Given the description of an element on the screen output the (x, y) to click on. 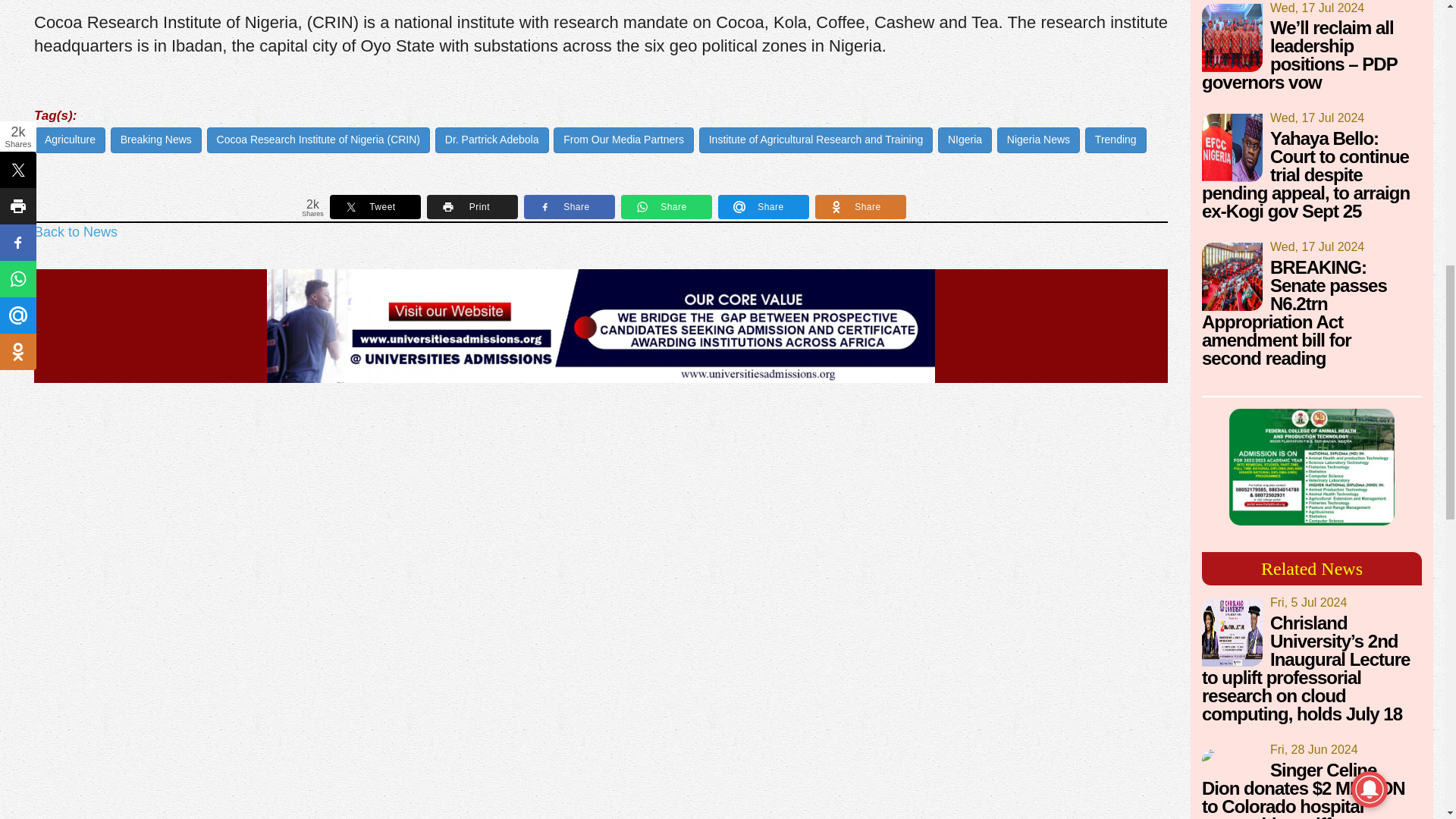
Dr. Partrick Adebola (491, 139)
Breaking News (156, 140)
Breaking News (156, 139)
Agriculture (69, 140)
Dr. Partrick Adebola (491, 140)
Agriculture (69, 139)
From Our Media Partners (623, 140)
From Our Media Partners (623, 139)
